Given the description of an element on the screen output the (x, y) to click on. 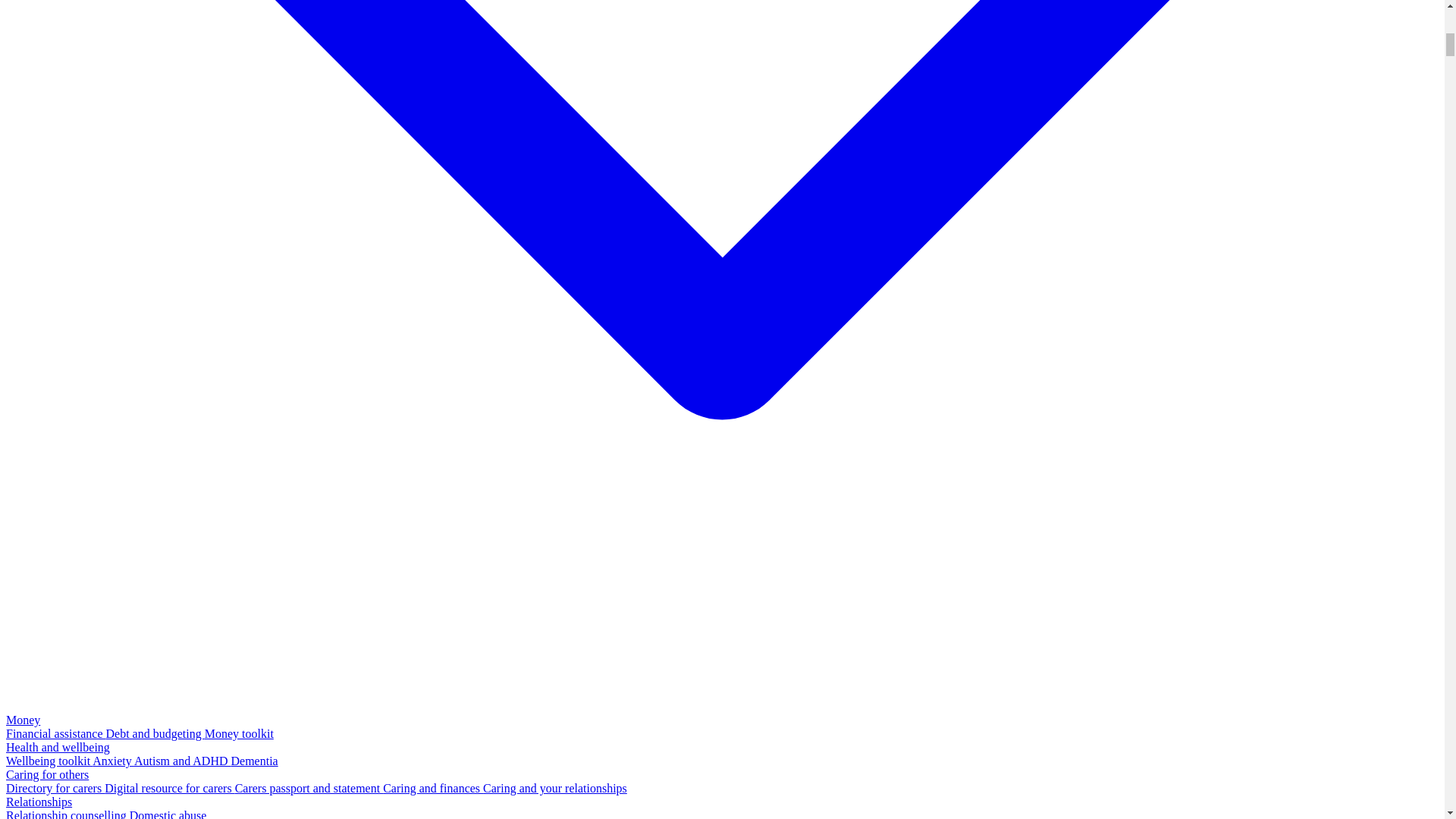
Money toolkit (239, 733)
Digital resource for carers (169, 788)
Relationship counselling (67, 814)
Dementia (254, 760)
Wellbeing toolkit (49, 760)
Anxiety (113, 760)
Carers passport and statement (309, 788)
Directory for carers (54, 788)
Money (22, 719)
Debt and budgeting (155, 733)
